Given the description of an element on the screen output the (x, y) to click on. 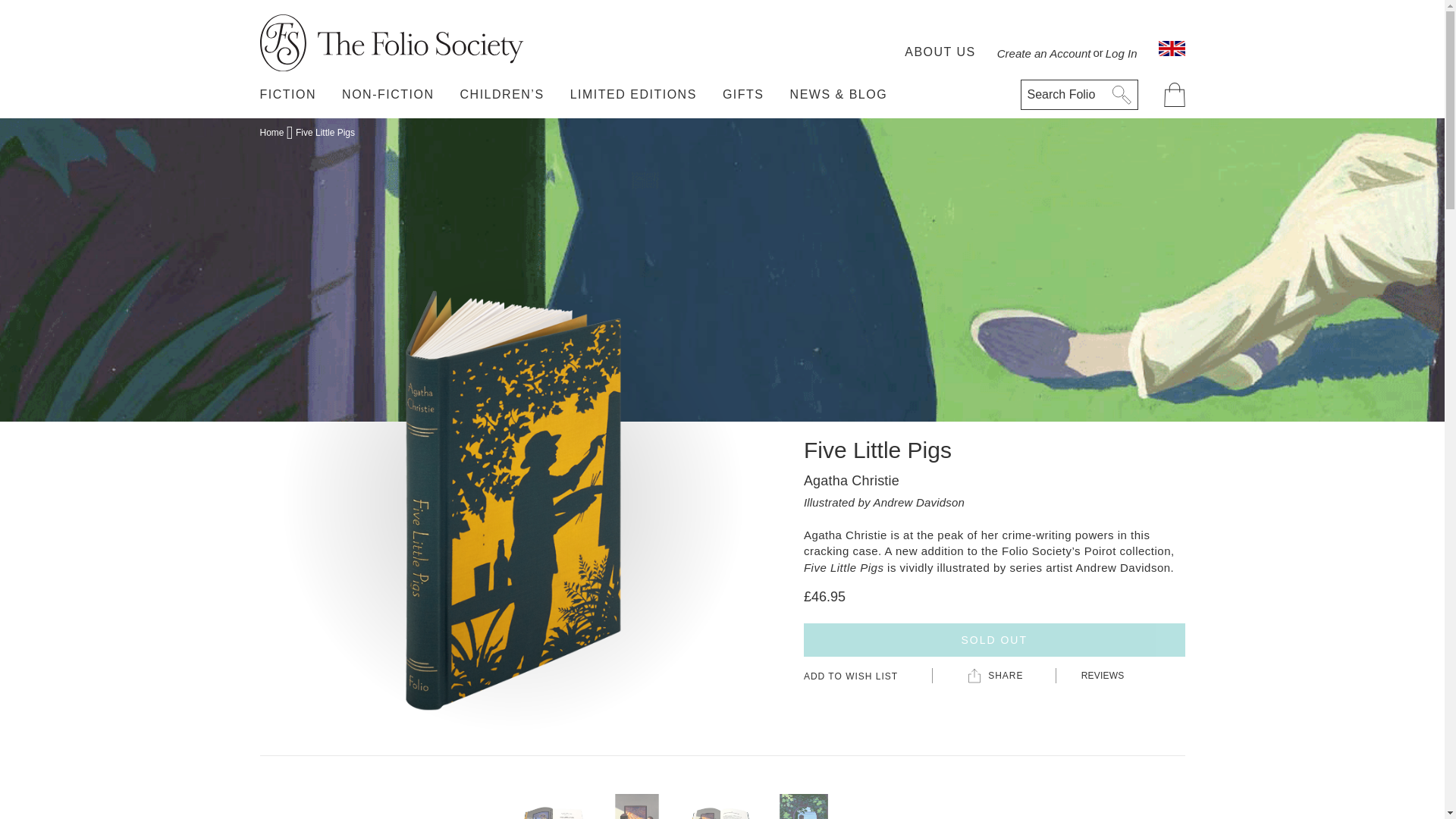
Search Folio (1079, 94)
FICTION (287, 94)
ABOUT US (939, 48)
Sign in to my account (1067, 48)
The Folio Society (392, 42)
